Given the description of an element on the screen output the (x, y) to click on. 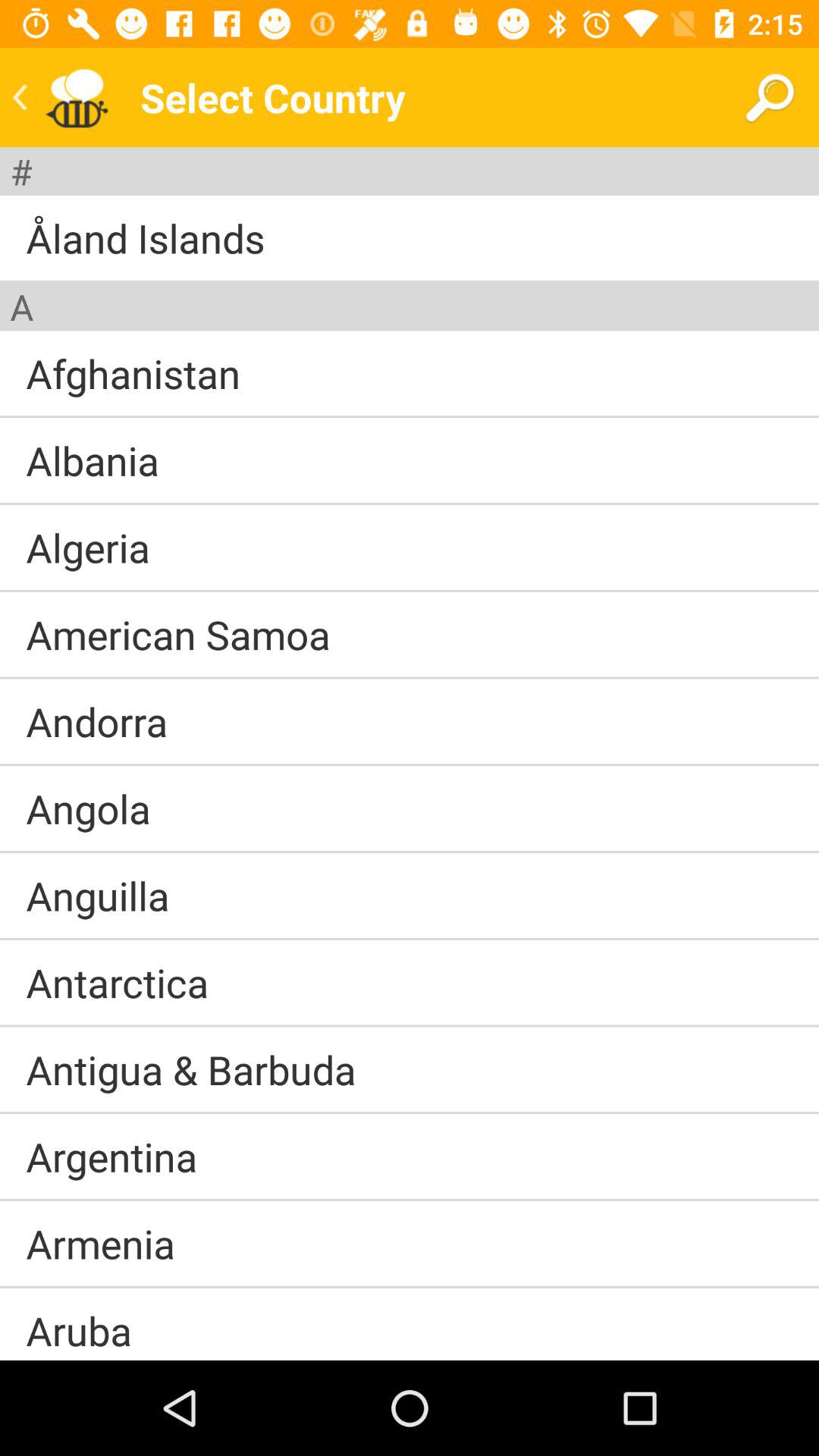
turn on the item above aruba icon (409, 1286)
